Given the description of an element on the screen output the (x, y) to click on. 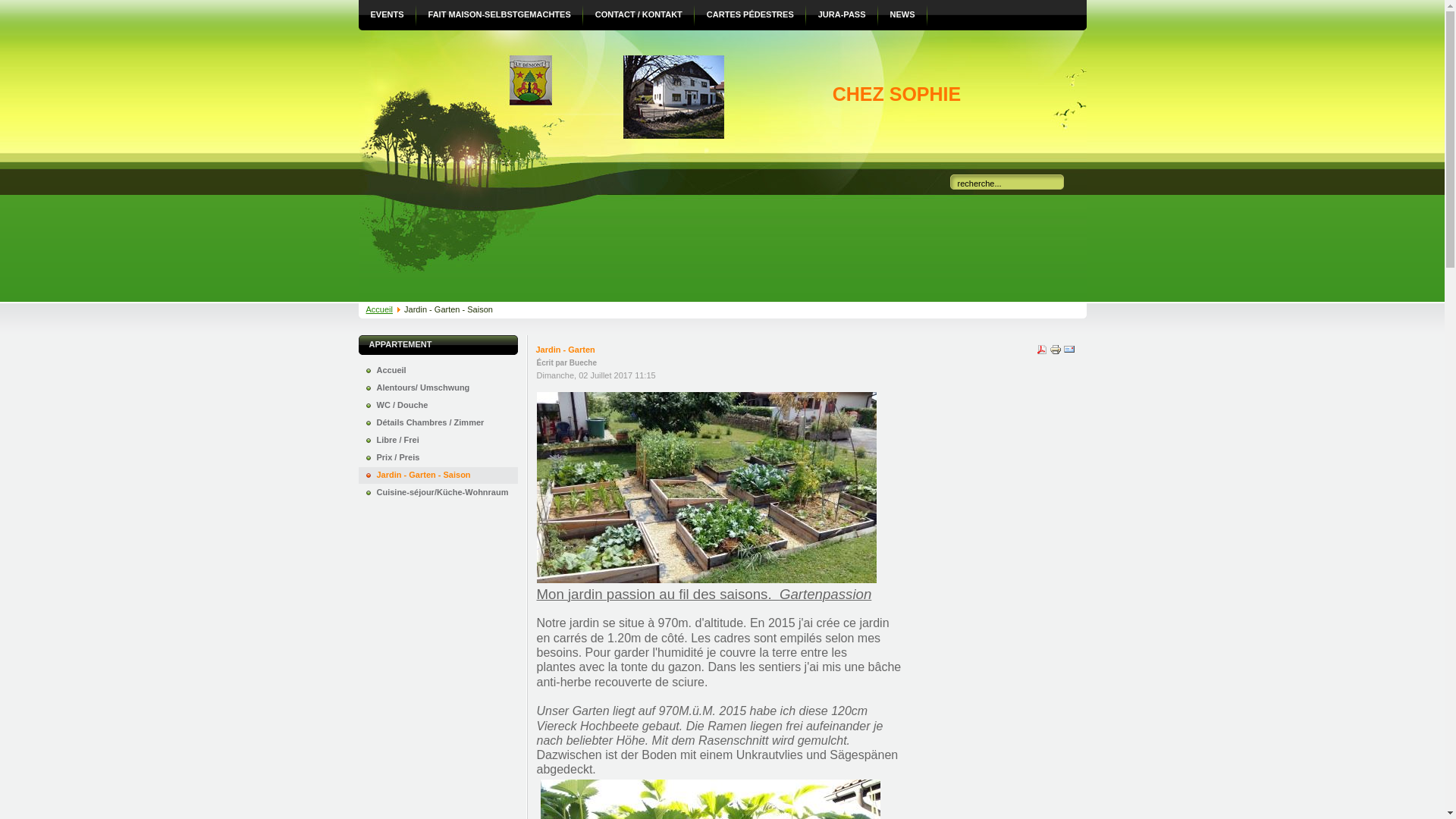
Alentours/ Umschwung Element type: text (437, 387)
Envoyer Element type: hover (1069, 352)
Accueil Element type: text (378, 308)
Jardin - Garten - Saison Element type: text (437, 475)
FAIT MAISON-SELBSTGEMACHTES Element type: text (499, 15)
Prix / Preis Element type: text (437, 457)
CHEZ SOPHIE Element type: text (896, 93)
PDF Element type: hover (1041, 352)
EVENTS Element type: text (386, 15)
Imprimer Element type: hover (1055, 352)
Libre / Frei Element type: text (437, 440)
NEWS Element type: text (902, 15)
JURA-PASS Element type: text (842, 15)
WC / Douche Element type: text (437, 405)
Accueil Element type: text (437, 370)
CONTACT / KONTAKT Element type: text (638, 15)
